Given the description of an element on the screen output the (x, y) to click on. 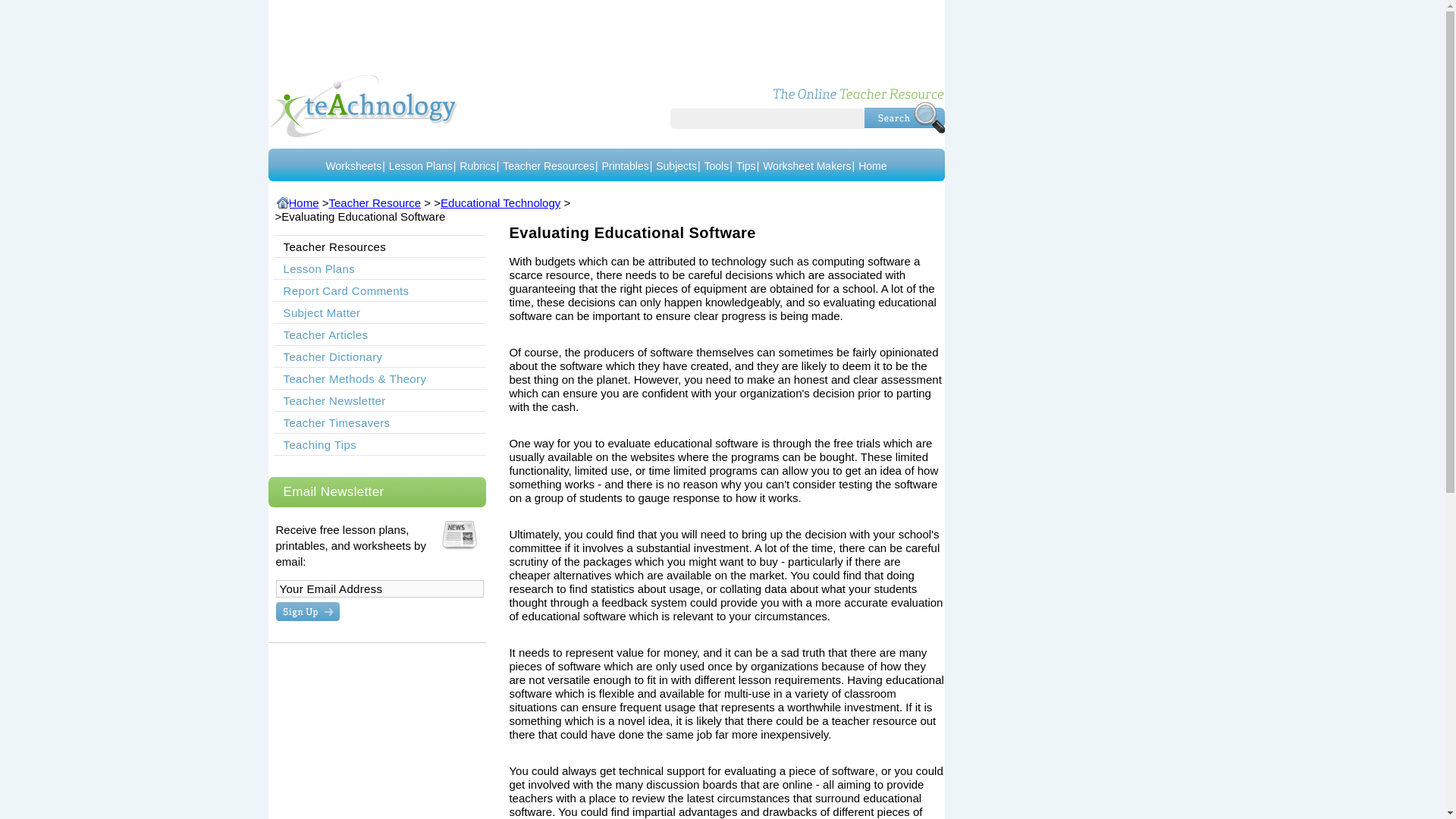
GO (307, 610)
Educational Technology (500, 202)
Home (872, 165)
Home (296, 202)
Teacher Timesavers (335, 422)
Report Card Comments (346, 290)
Subject Matter (321, 312)
Printables (624, 165)
Search (904, 117)
Teachnology (362, 106)
Teacher Newsletter (333, 400)
Teacher Dictionary (332, 355)
Worksheet Makers (806, 165)
Worksheets (352, 165)
Lesson Plans (420, 165)
